Given the description of an element on the screen output the (x, y) to click on. 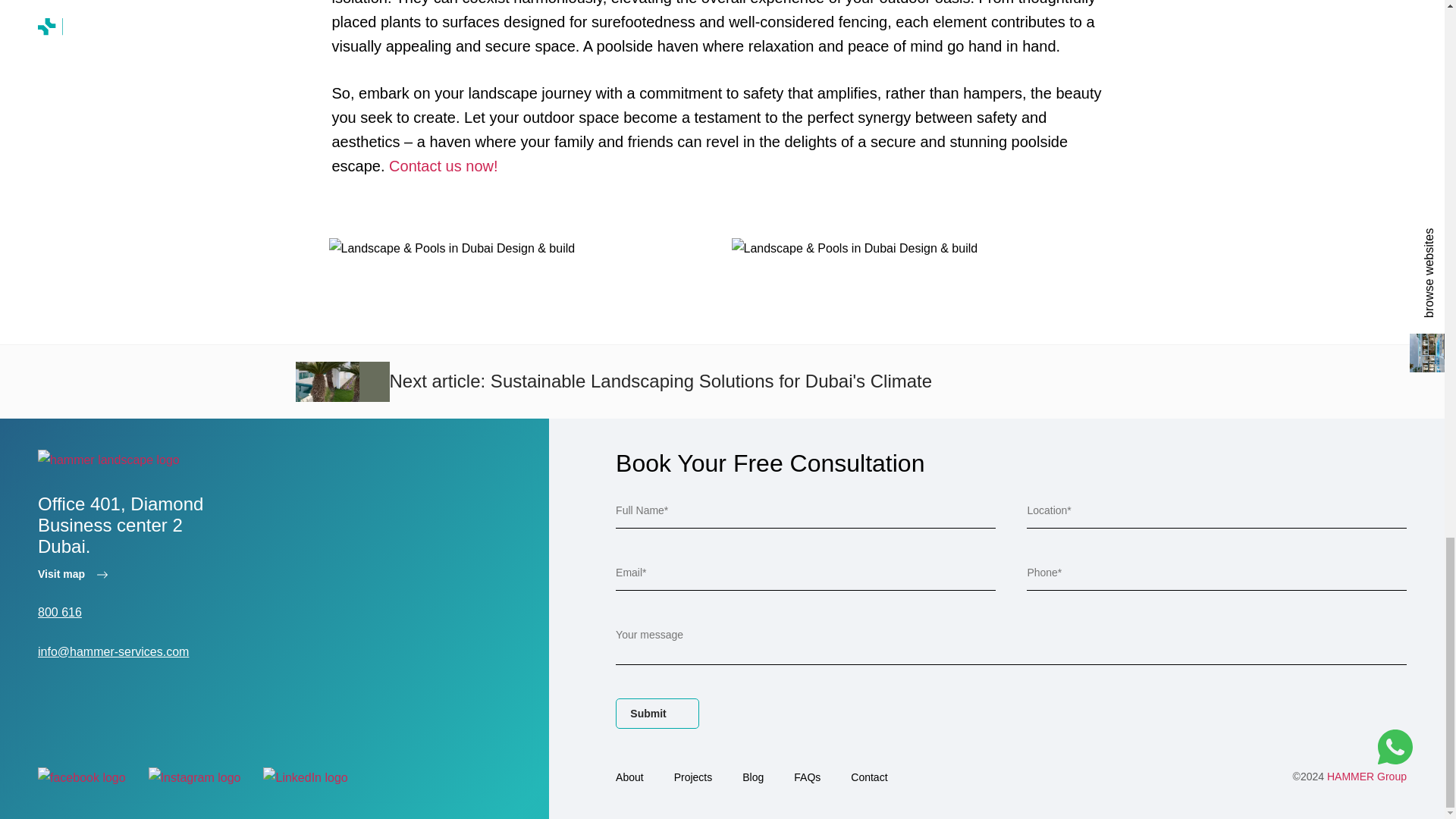
About (629, 776)
Submit (656, 713)
Projects (693, 776)
HAMMER Group (1366, 776)
FAQs (807, 776)
800 616 (59, 612)
Visit map (72, 574)
Contact us now! (441, 166)
Submit (656, 713)
Blog (752, 776)
